Given the description of an element on the screen output the (x, y) to click on. 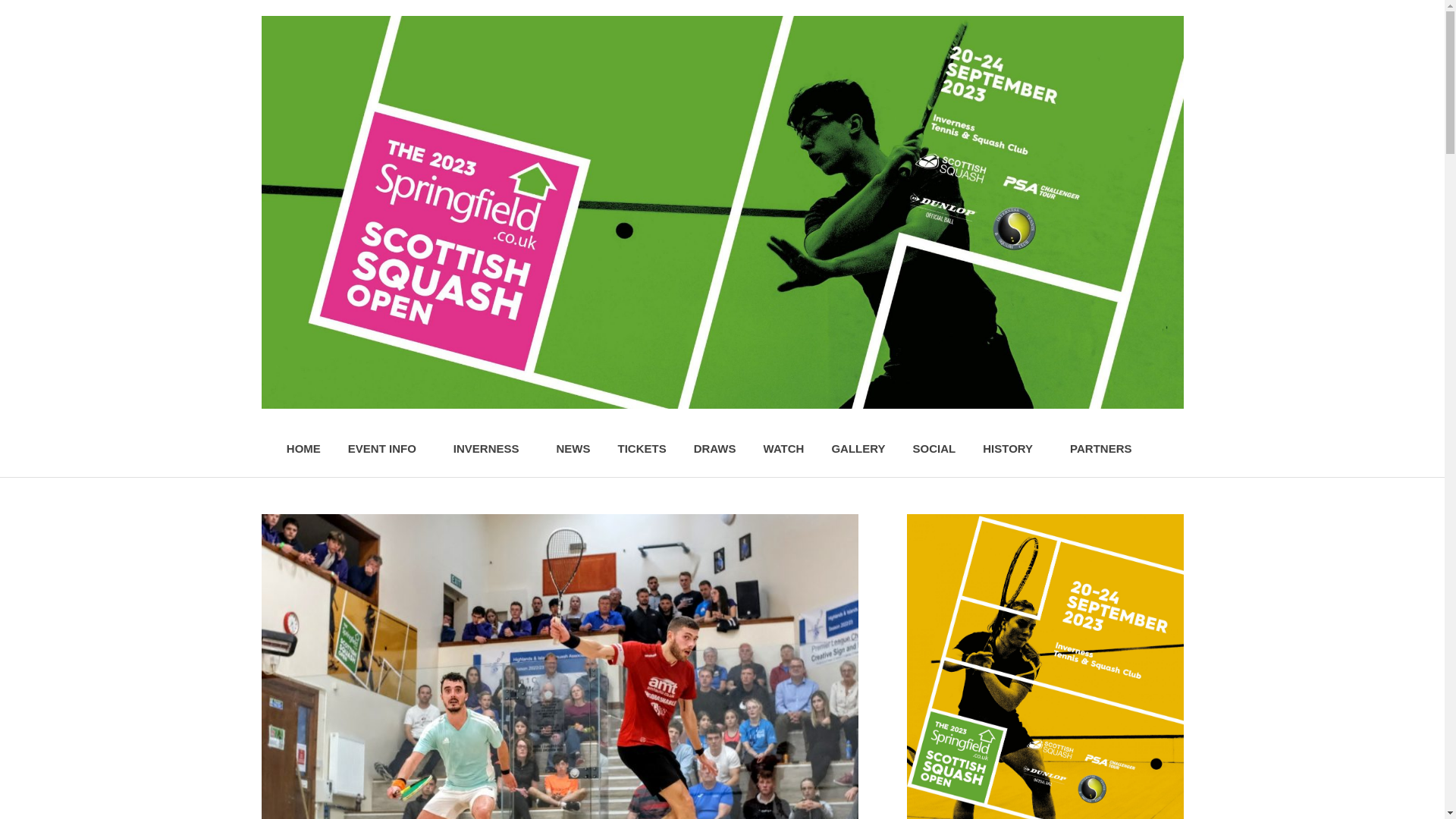
EVENT INFO (386, 448)
HOME (303, 448)
DRAWS (714, 448)
HISTORY (1013, 448)
WATCH (783, 448)
PARTNERS (1100, 448)
GALLERY (857, 448)
TICKETS (641, 448)
NEWS (573, 448)
SOCIAL (934, 448)
SEARCH (1163, 447)
INVERNESS (491, 448)
